Given the description of an element on the screen output the (x, y) to click on. 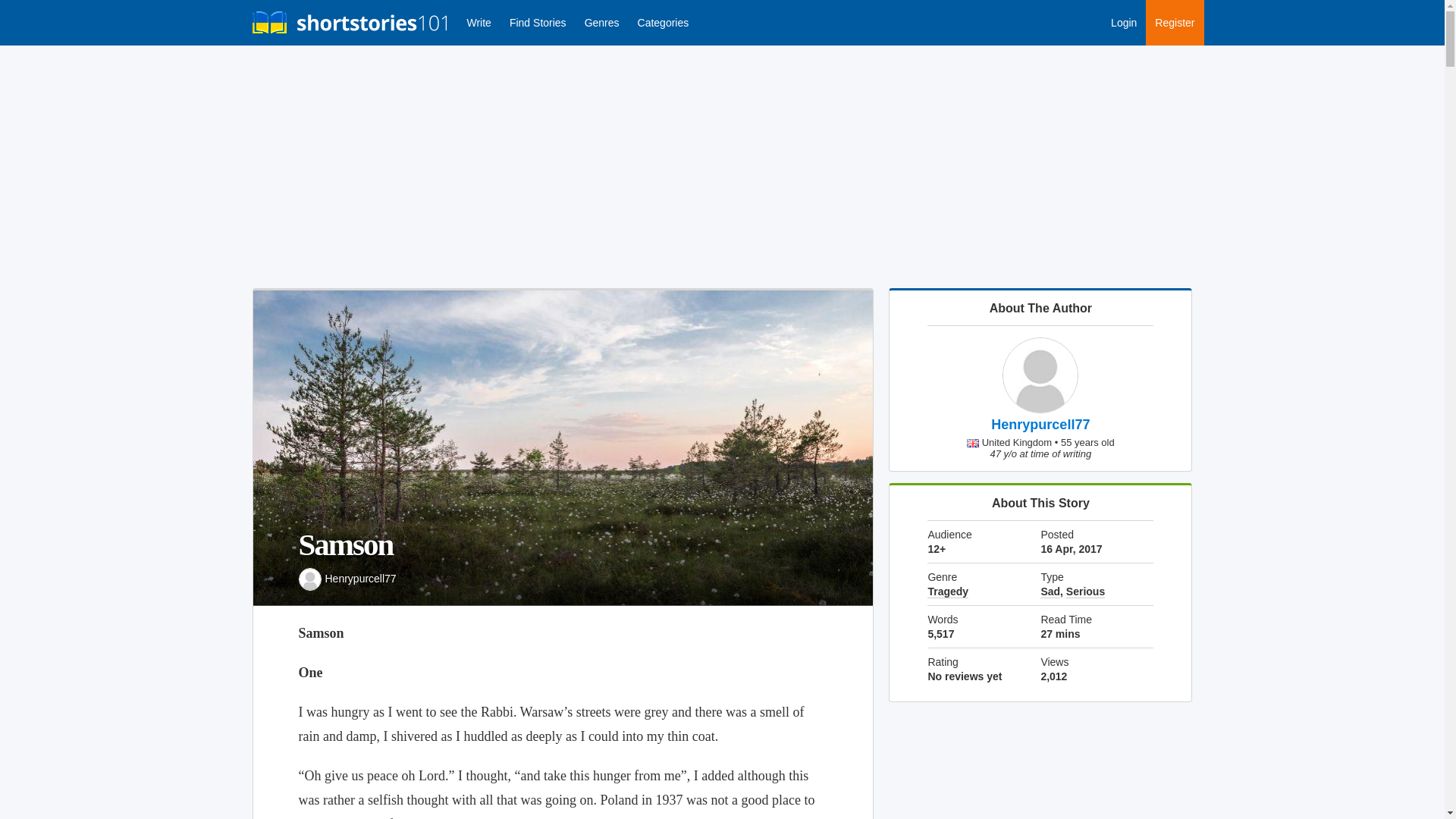
Register (1174, 22)
Find Stories (537, 22)
Short Stories 101 (349, 22)
Write (479, 22)
